Given the description of an element on the screen output the (x, y) to click on. 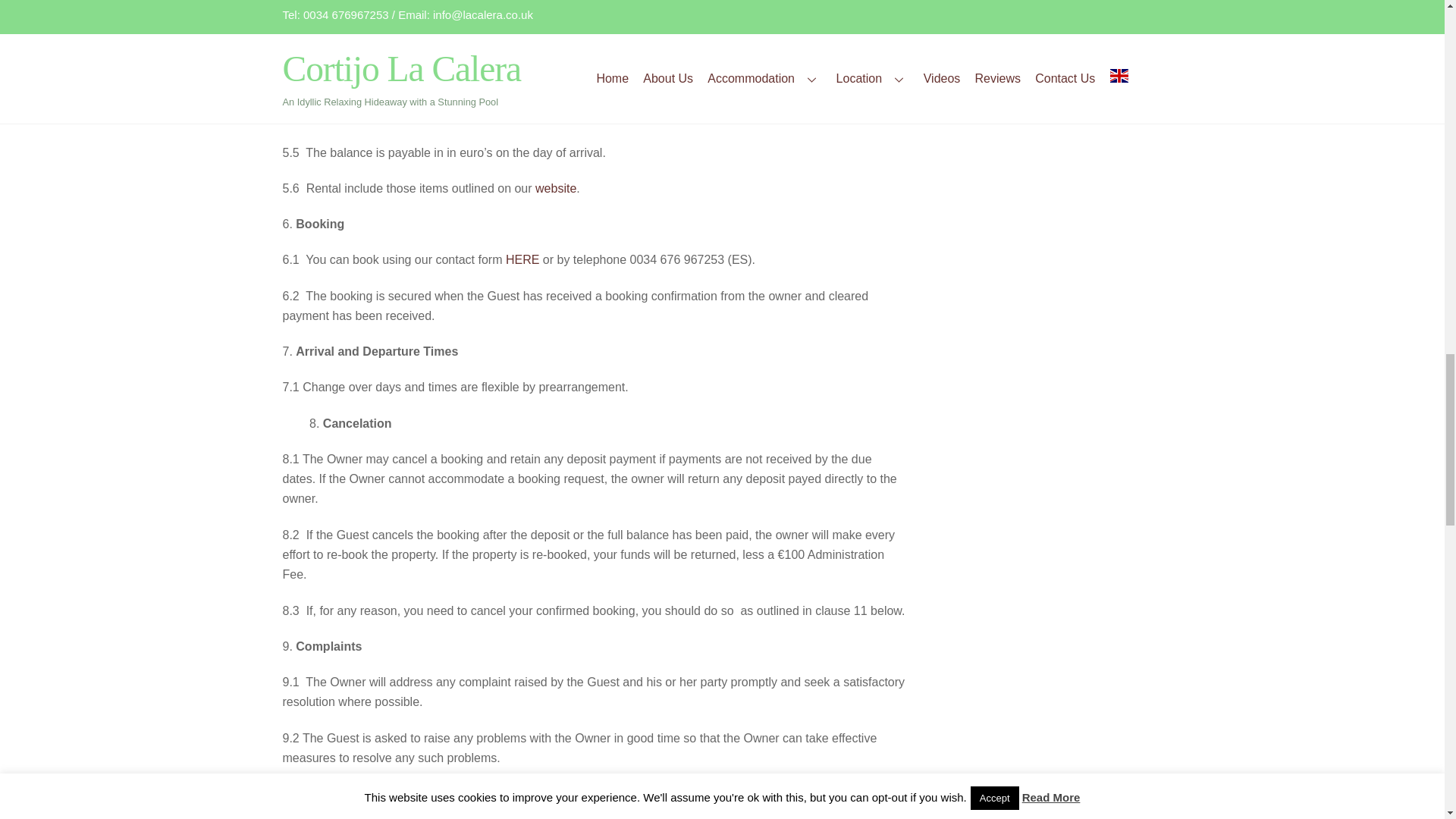
HERE (521, 259)
website (555, 187)
